Given the description of an element on the screen output the (x, y) to click on. 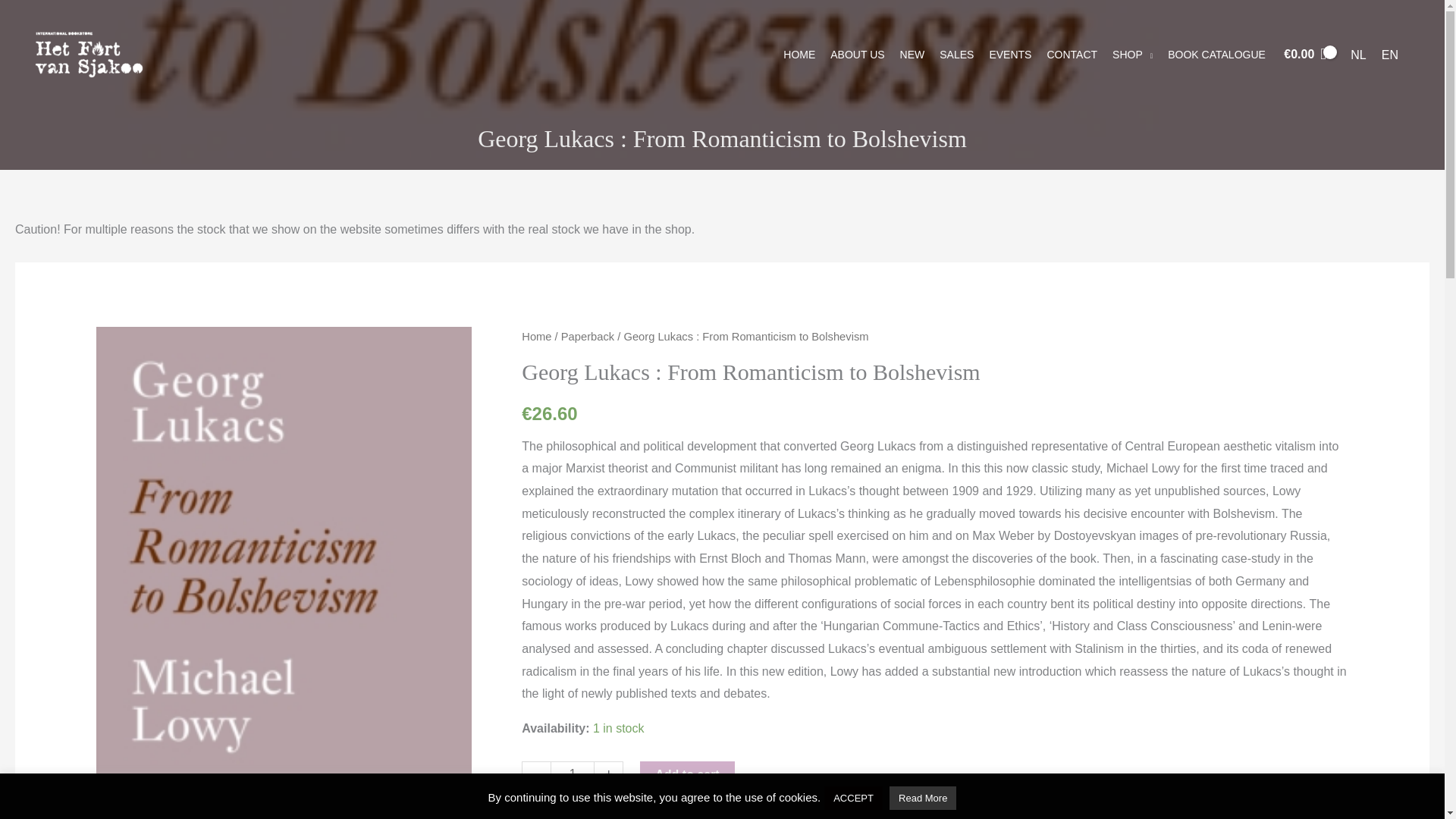
NEW (912, 53)
EN (1390, 55)
SHOP (1132, 53)
NL (1357, 55)
BOOK CATALOGUE (1216, 53)
1 (572, 774)
EVENTS (1010, 53)
SALES (956, 53)
HOME (799, 53)
ABOUT US (856, 53)
CONTACT (1072, 53)
